Given the description of an element on the screen output the (x, y) to click on. 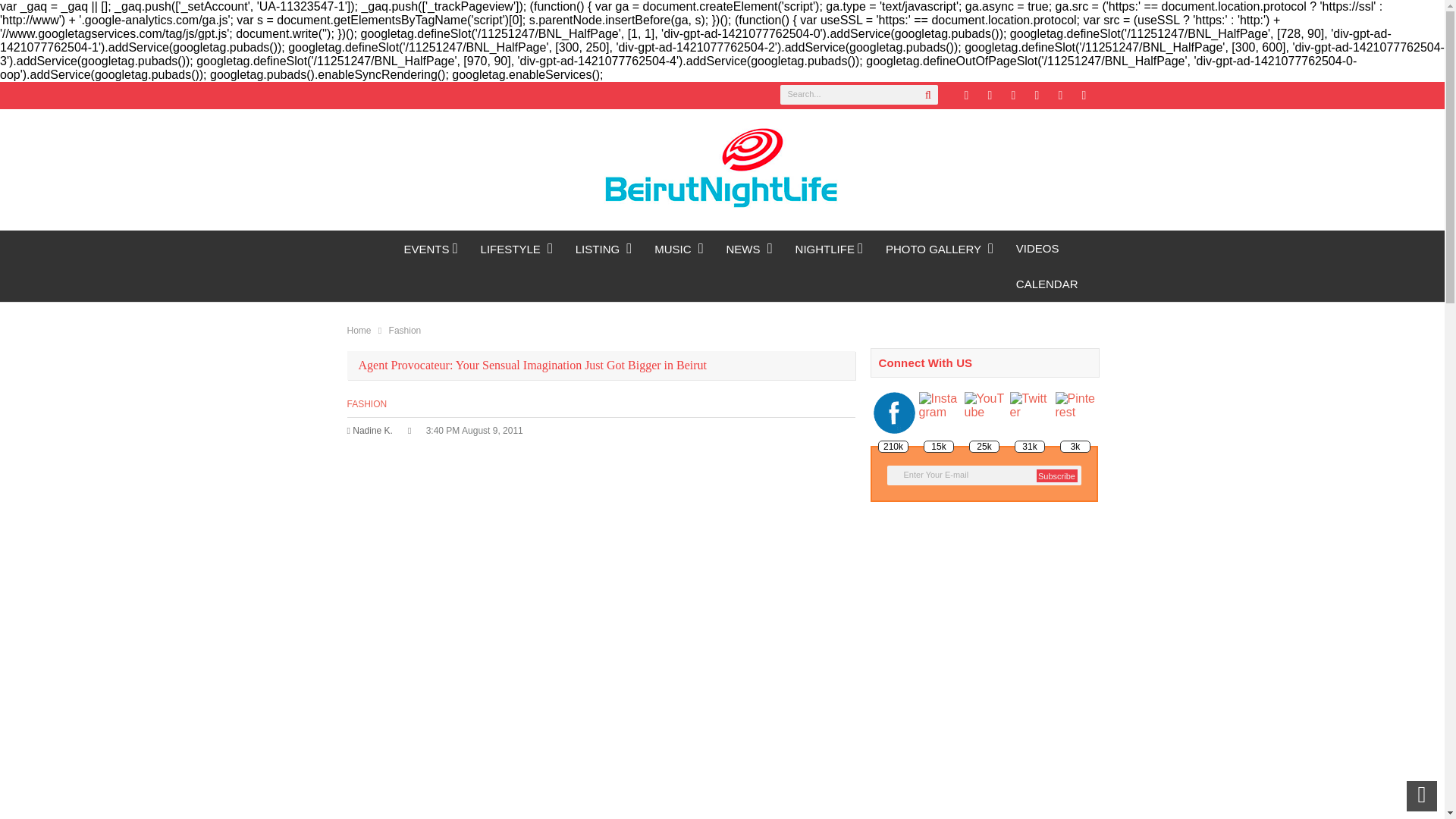
BEIRUTNIGHTLIFE :: BEIRUT THE ONLY WAY IT SHOULD BE (370, 248)
Search... (857, 94)
MUSIC (678, 248)
Instagram (1060, 95)
LIFESTYLE (516, 248)
RSS (1036, 95)
Twitter (966, 95)
Enter Your E-mail (983, 475)
LISTING (603, 248)
